Given the description of an element on the screen output the (x, y) to click on. 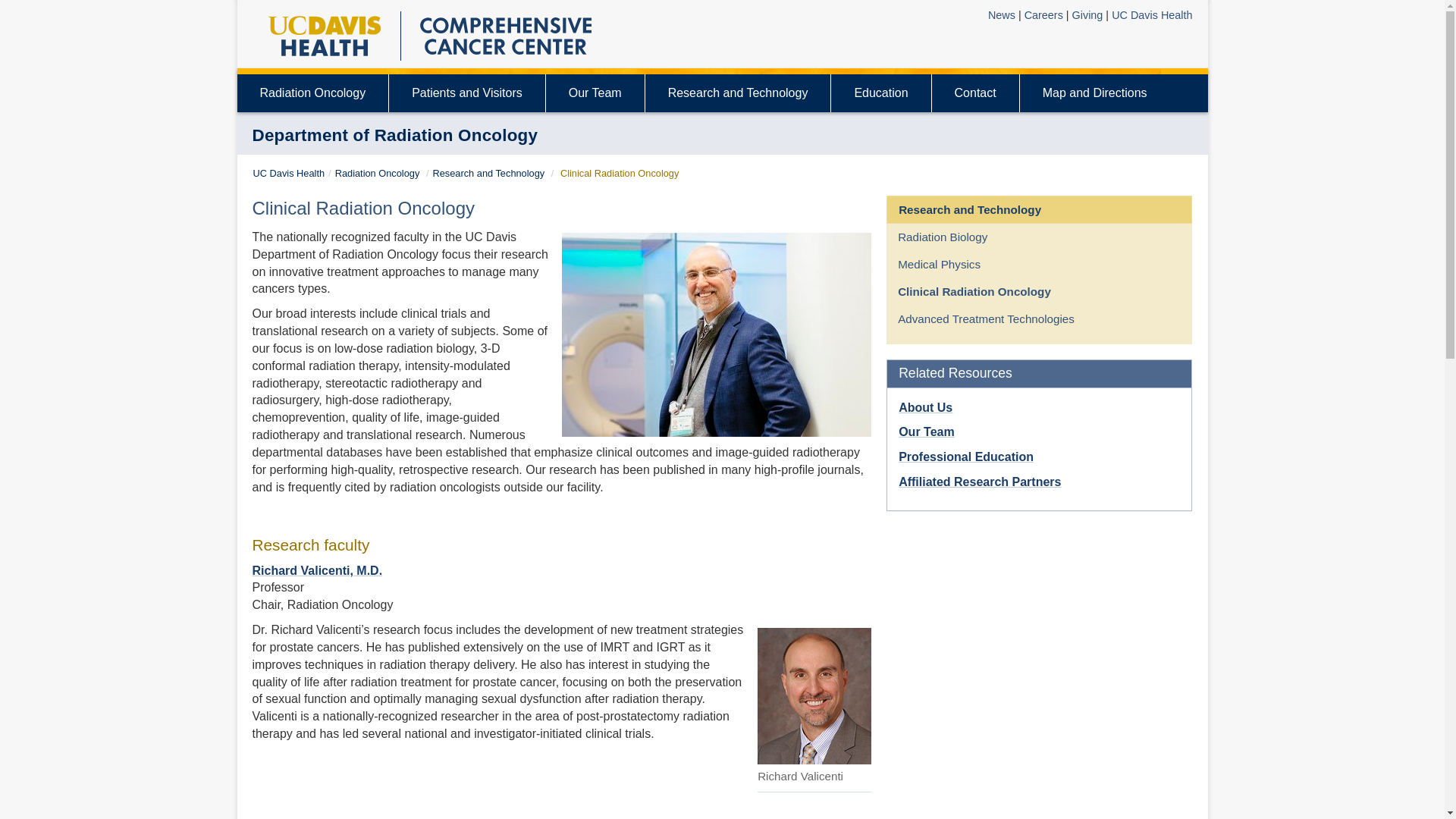
Education (880, 93)
Richard Valicenti, M.D. (316, 570)
Research and Technology (488, 173)
Radiation Oncology (377, 173)
Research and Technology (488, 173)
Affiliated Research Partners (979, 481)
Giving (1087, 15)
Department of Radiation Oncology (394, 135)
UC Davis Health (288, 173)
